Given the description of an element on the screen output the (x, y) to click on. 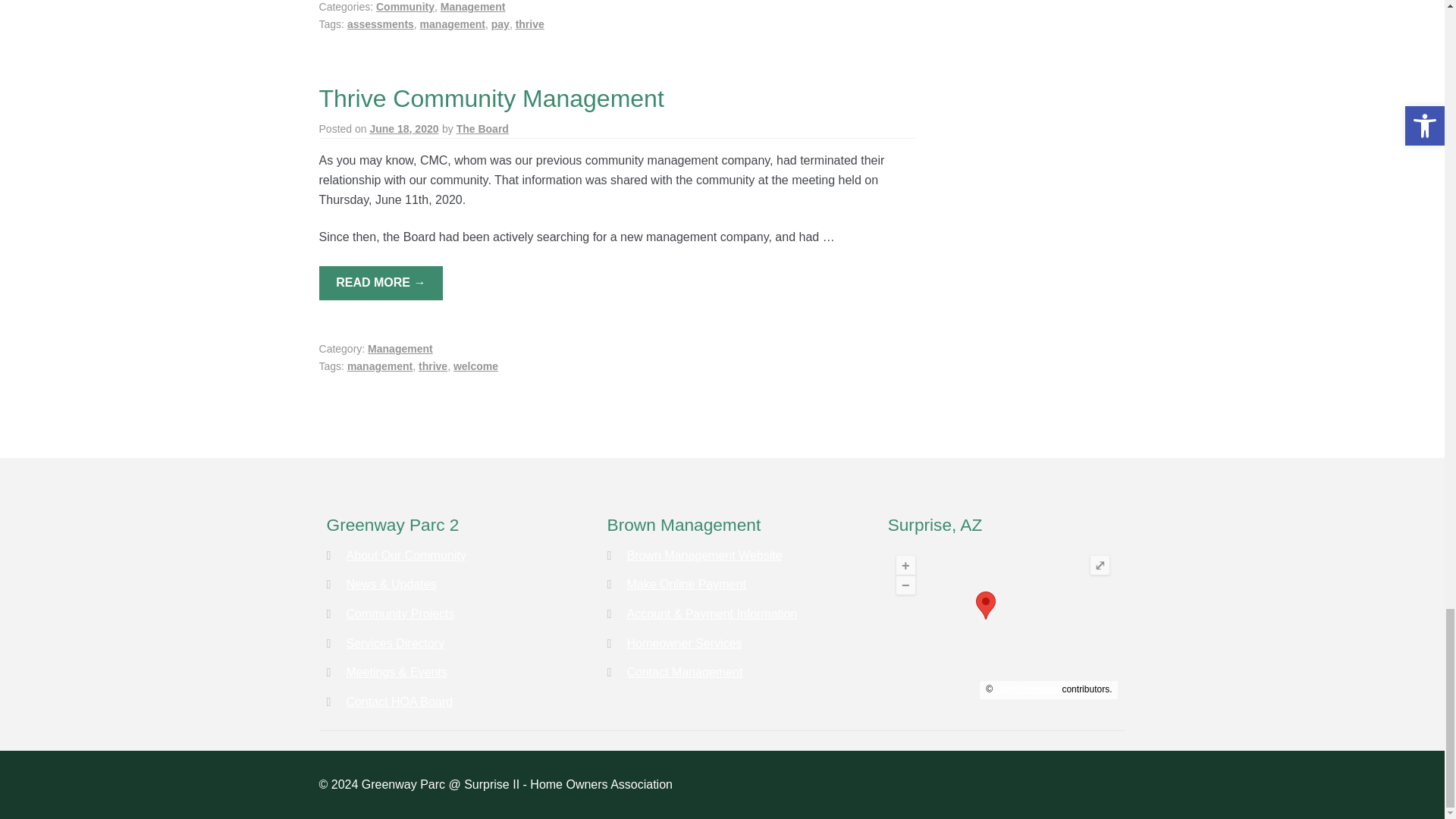
Toggle full-screen (1099, 565)
Zoom out (905, 584)
Zoom in (905, 565)
